Given the description of an element on the screen output the (x, y) to click on. 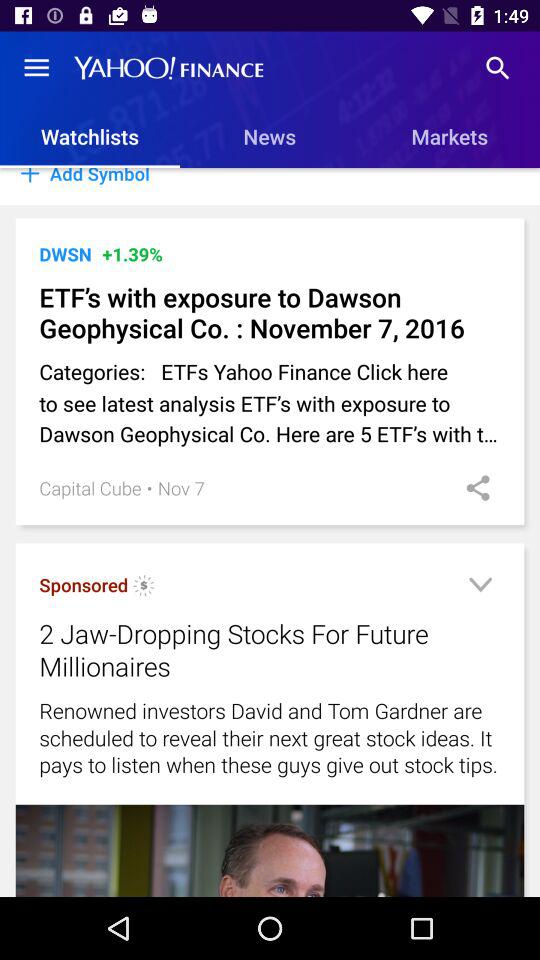
jump to the 2 jaw dropping item (244, 650)
